Given the description of an element on the screen output the (x, y) to click on. 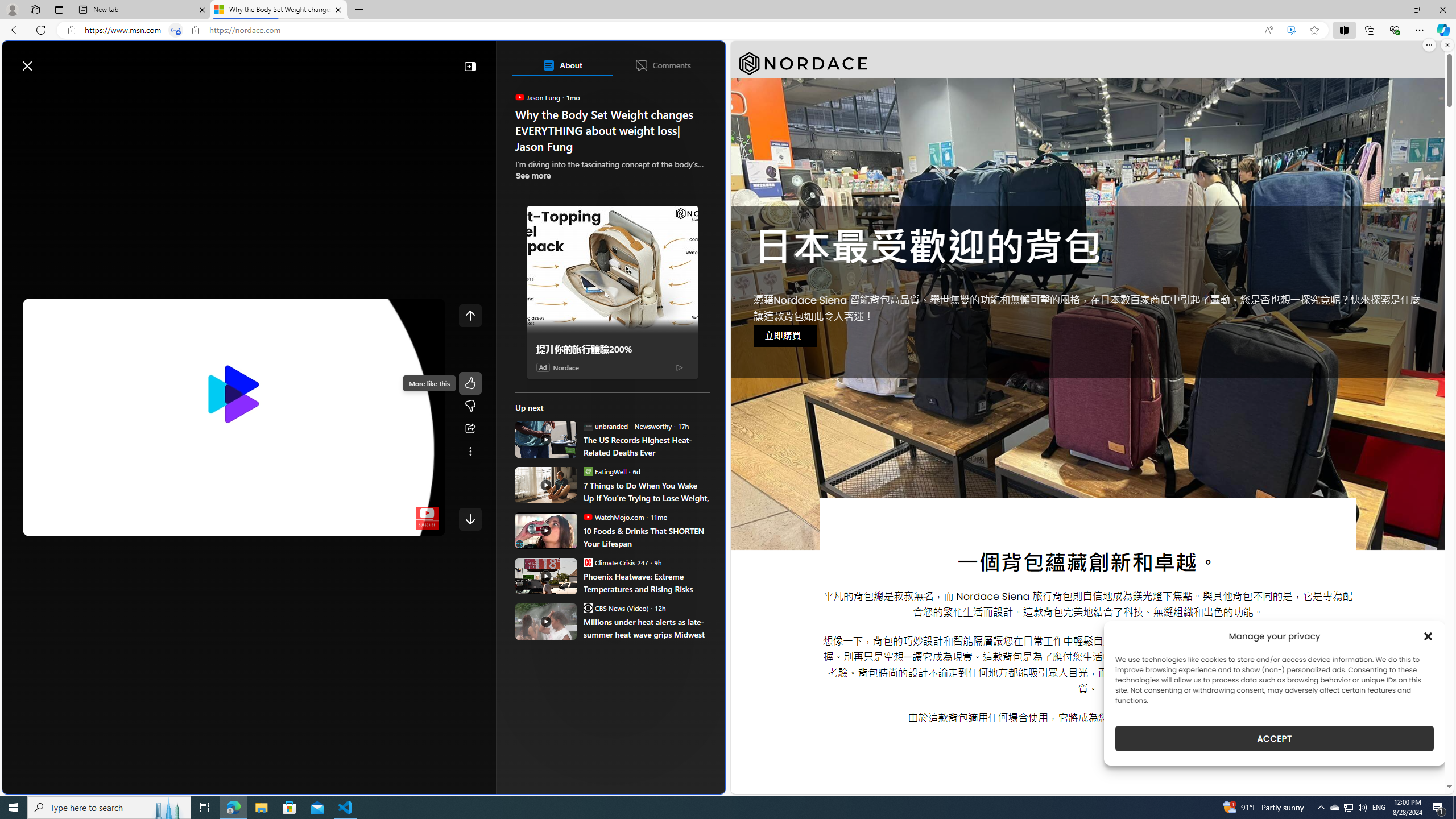
ACCEPT (1274, 738)
Pause (k) (42, 525)
unbranded - Newsworthy unbranded - Newsworthy (626, 425)
ABC News (554, 415)
Read aloud this page (Ctrl+Shift+U) (1268, 29)
New Tab (358, 9)
Microsoft rewards (654, 60)
Class: control (469, 518)
Unmute (m) (66, 525)
